Given the description of an element on the screen output the (x, y) to click on. 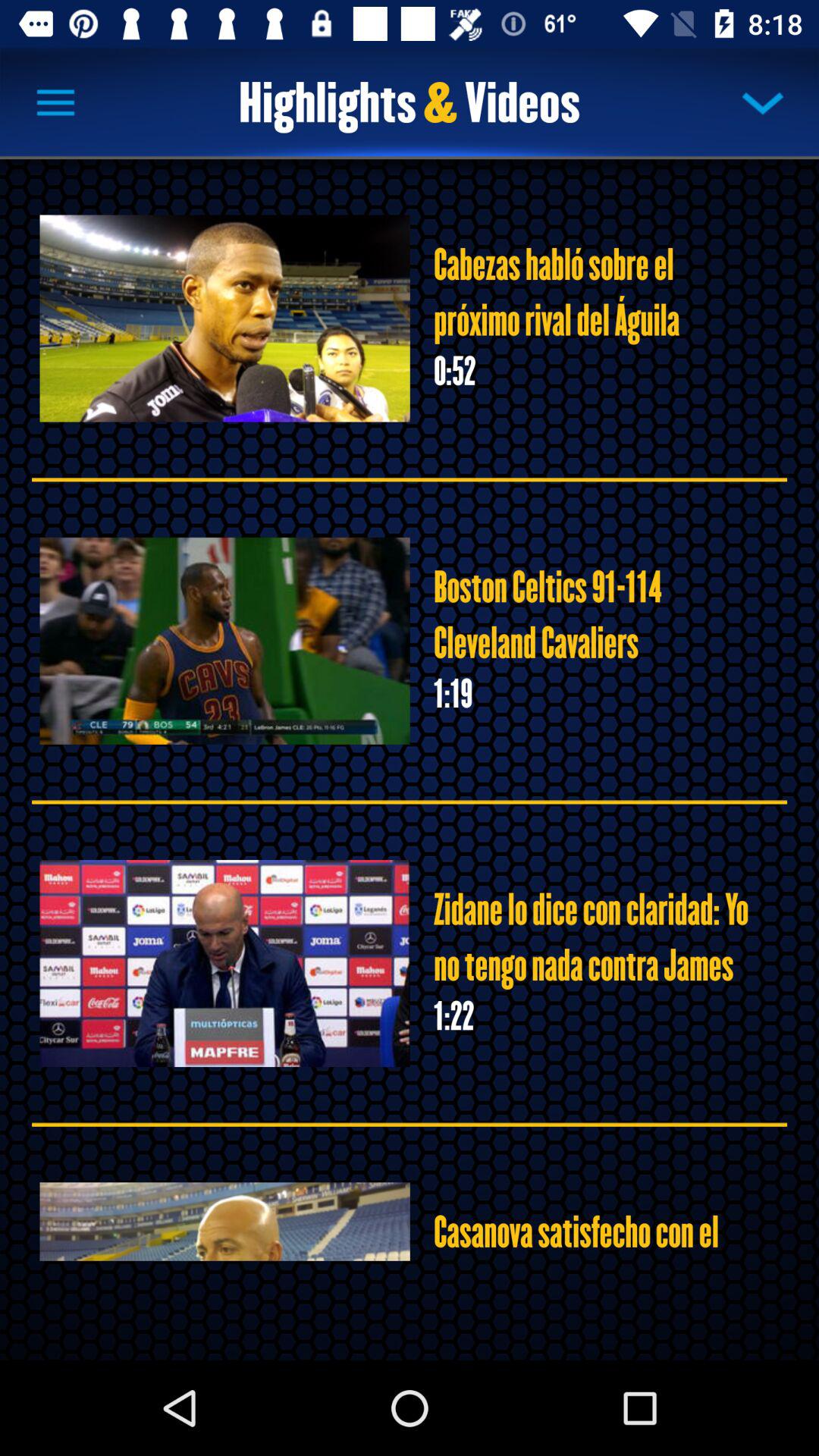
select the third image in the page (225, 963)
